Given the description of an element on the screen output the (x, y) to click on. 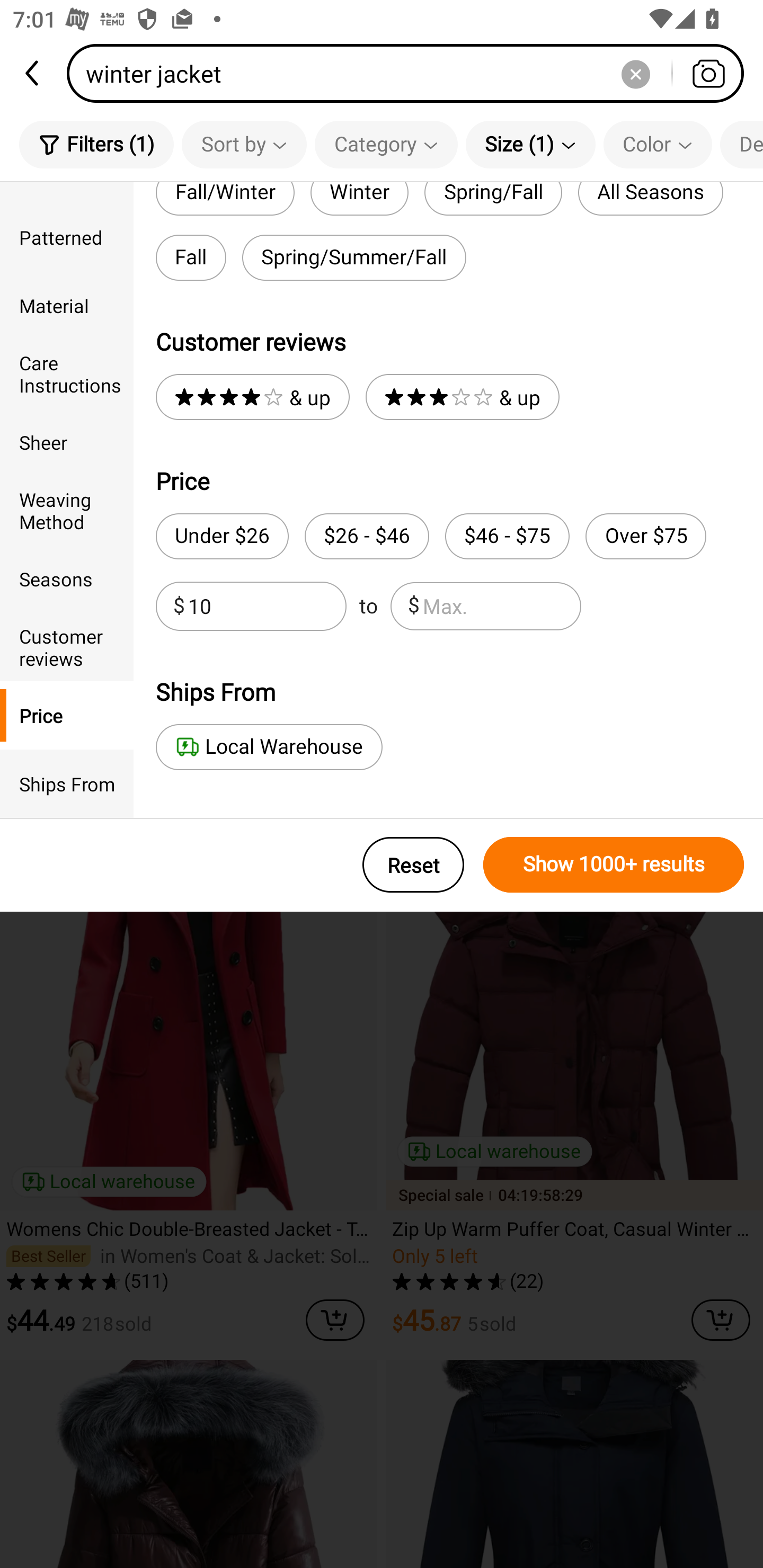
back (33, 72)
winter jacket (411, 73)
Delete search history (635, 73)
Search by photo (708, 73)
Filters (1) (96, 143)
Sort by (243, 143)
Category (385, 143)
Size (1) (530, 143)
Color (657, 143)
Fall/Winter (224, 198)
Winter (359, 198)
Spring/Fall (493, 198)
All Seasons (650, 198)
Patterned (66, 236)
Fall (190, 257)
Spring/Summer/Fall (353, 257)
Material (66, 305)
Care Instructions (66, 373)
& up (252, 397)
& up (462, 397)
Sheer (66, 441)
Weaving Method (66, 510)
Under $26 (221, 535)
$26 - $46 (366, 535)
$46 - $75 (506, 535)
Over $75 (645, 535)
Seasons (66, 578)
$ 10 to $ Max. (368, 605)
Customer reviews (66, 646)
Price (66, 714)
Local Warehouse (268, 746)
Ships From (66, 783)
Reset (412, 864)
Show 1000+ results (612, 864)
